Given the description of an element on the screen output the (x, y) to click on. 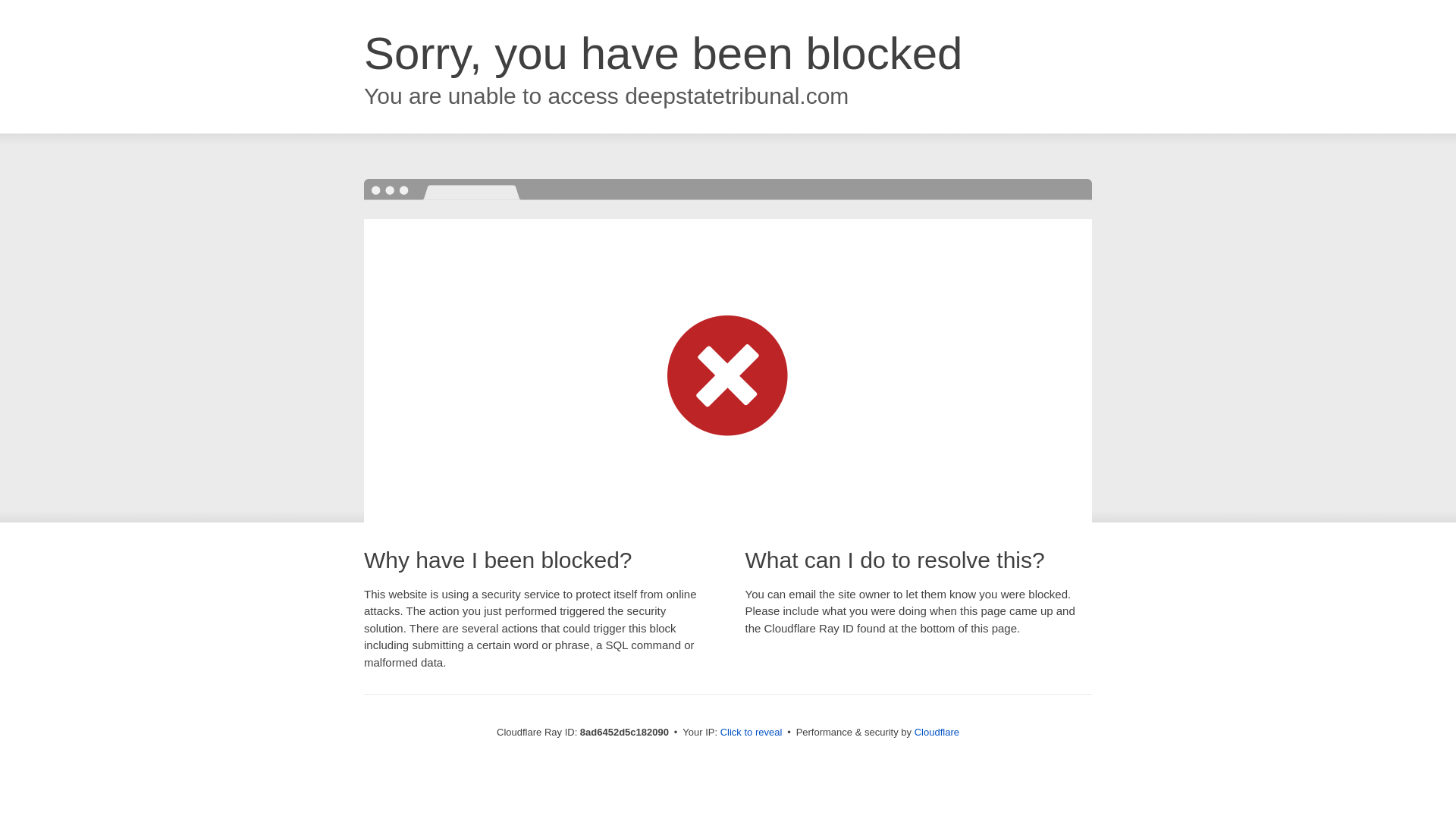
Click to reveal (751, 732)
Cloudflare (936, 731)
